Given the description of an element on the screen output the (x, y) to click on. 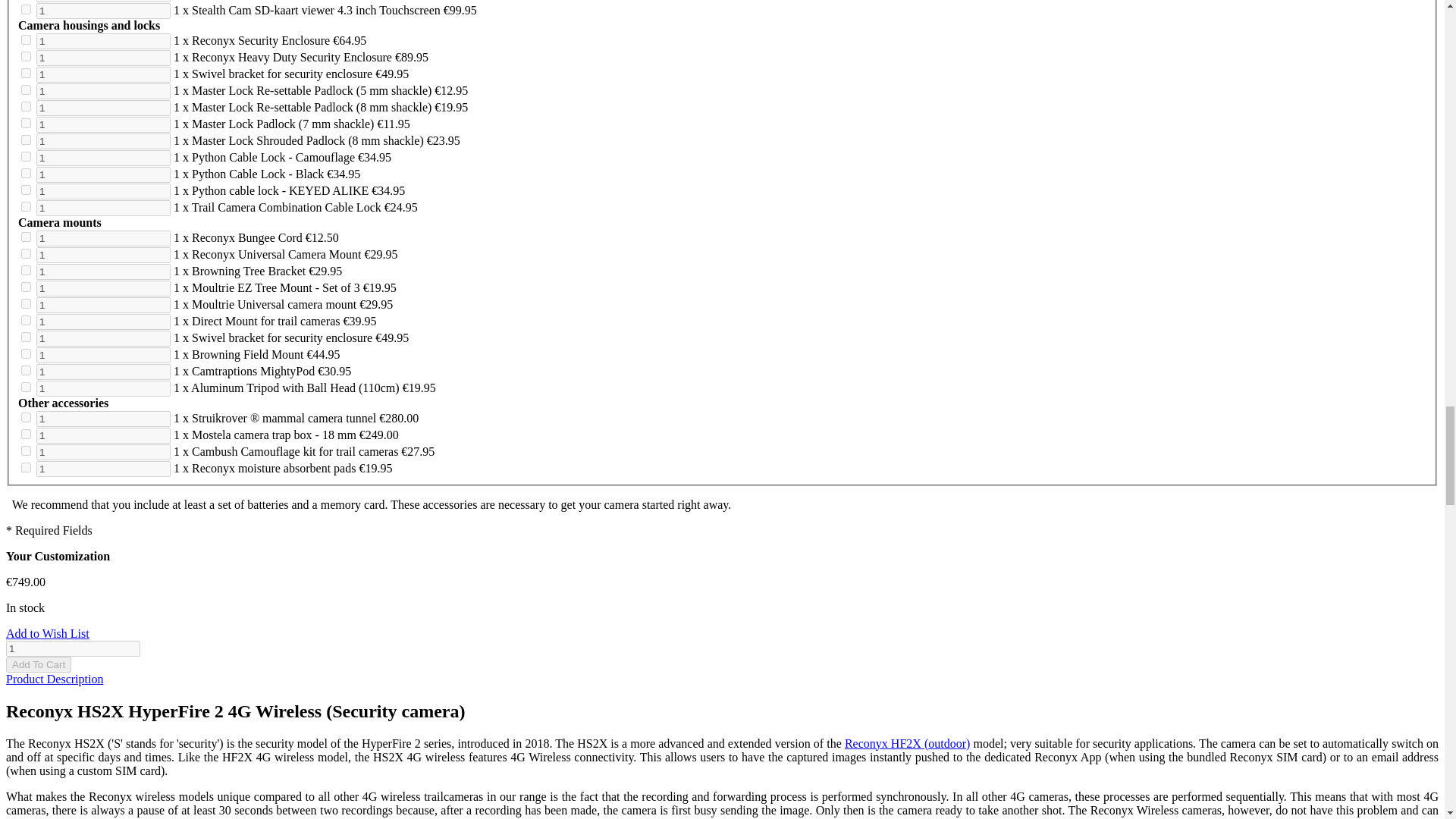
Add To Cart (38, 664)
Reconyx HF2X (906, 743)
Qty (72, 648)
